Given the description of an element on the screen output the (x, y) to click on. 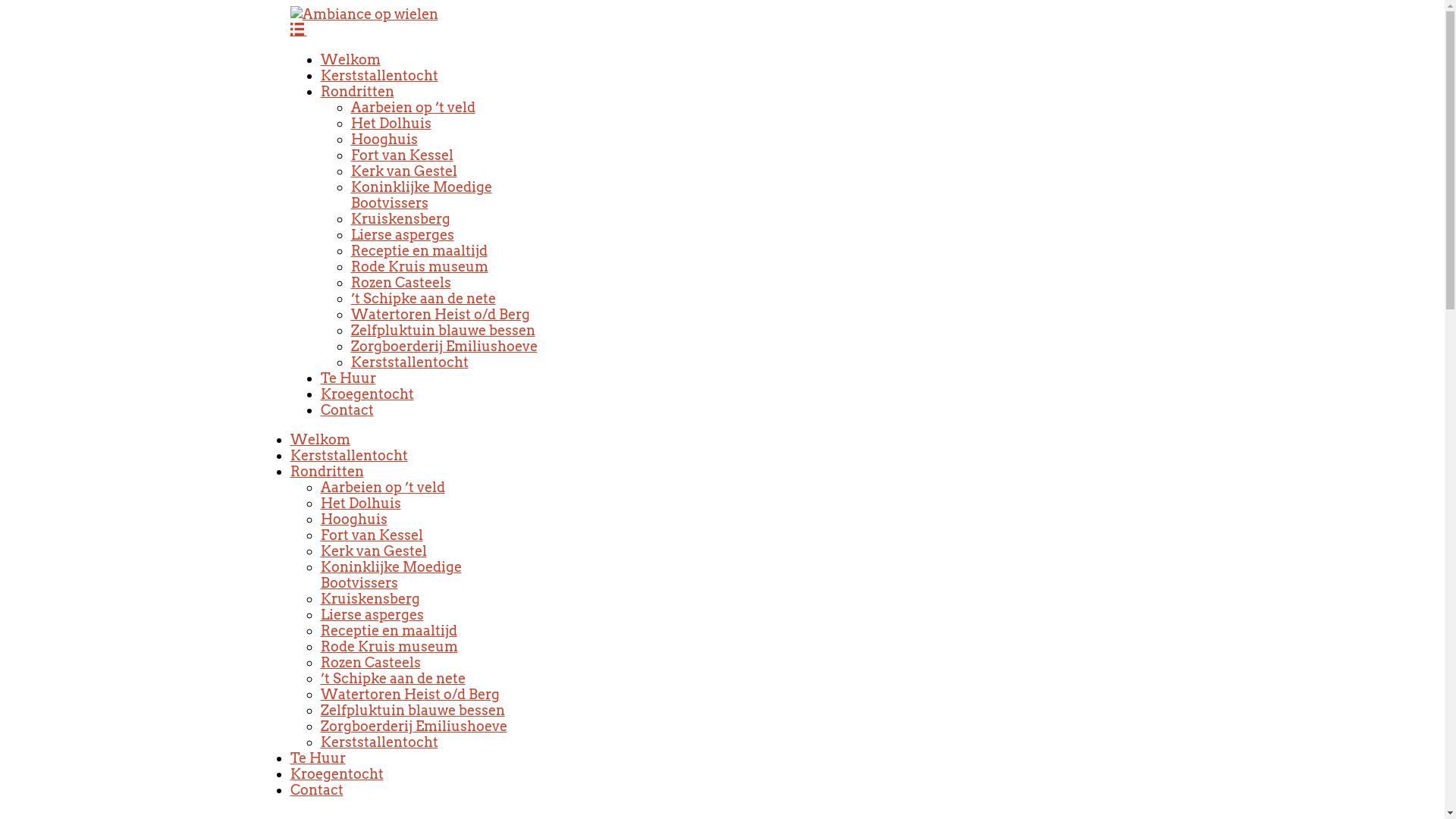
Fort van Kessel Element type: text (371, 534)
Koninklijke Moedige Bootvissers Element type: text (390, 574)
Contact Element type: text (346, 409)
Receptie en maaltijd Element type: text (418, 250)
Receptie en maaltijd Element type: text (388, 630)
Koninklijke Moedige Bootvissers Element type: text (420, 194)
Zelfpluktuin blauwe bessen Element type: text (412, 710)
Zorgboerderij Emiliushoeve Element type: text (413, 726)
Watertoren Heist o/d Berg Element type: text (409, 694)
Rode Kruis museum Element type: text (418, 266)
Hooghuis Element type: text (383, 139)
Rode Kruis museum Element type: text (388, 646)
Kerststallentocht Element type: text (378, 75)
Te Huur Element type: text (347, 377)
Zorgboerderij Emiliushoeve Element type: text (443, 346)
Kroegentocht Element type: text (366, 393)
Kruiskensberg Element type: text (369, 598)
Rondritten Element type: text (356, 91)
Kroegentocht Element type: text (335, 773)
Lierse asperges Element type: text (371, 614)
Te Huur Element type: text (317, 757)
Kerststallentocht Element type: text (348, 455)
Kerststallentocht Element type: text (408, 362)
Fort van Kessel Element type: text (401, 155)
Hooghuis Element type: text (353, 519)
Welkom Element type: text (319, 439)
Kerk van Gestel Element type: text (403, 170)
Kerk van Gestel Element type: text (373, 550)
Welkom Element type: text (349, 59)
Kerststallentocht Element type: text (378, 741)
Rozen Casteels Element type: text (370, 662)
Rondritten Element type: text (326, 471)
Het Dolhuis Element type: text (390, 123)
Contact Element type: text (315, 789)
Lierse asperges Element type: text (401, 234)
Rozen Casteels Element type: text (400, 282)
Kruiskensberg Element type: text (399, 218)
Ambiance op wielen Element type: hover (363, 13)
Het Dolhuis Element type: text (360, 503)
  Element type: text (297, 29)
Zelfpluktuin blauwe bessen Element type: text (442, 330)
Watertoren Heist o/d Berg Element type: text (439, 314)
